Given the description of an element on the screen output the (x, y) to click on. 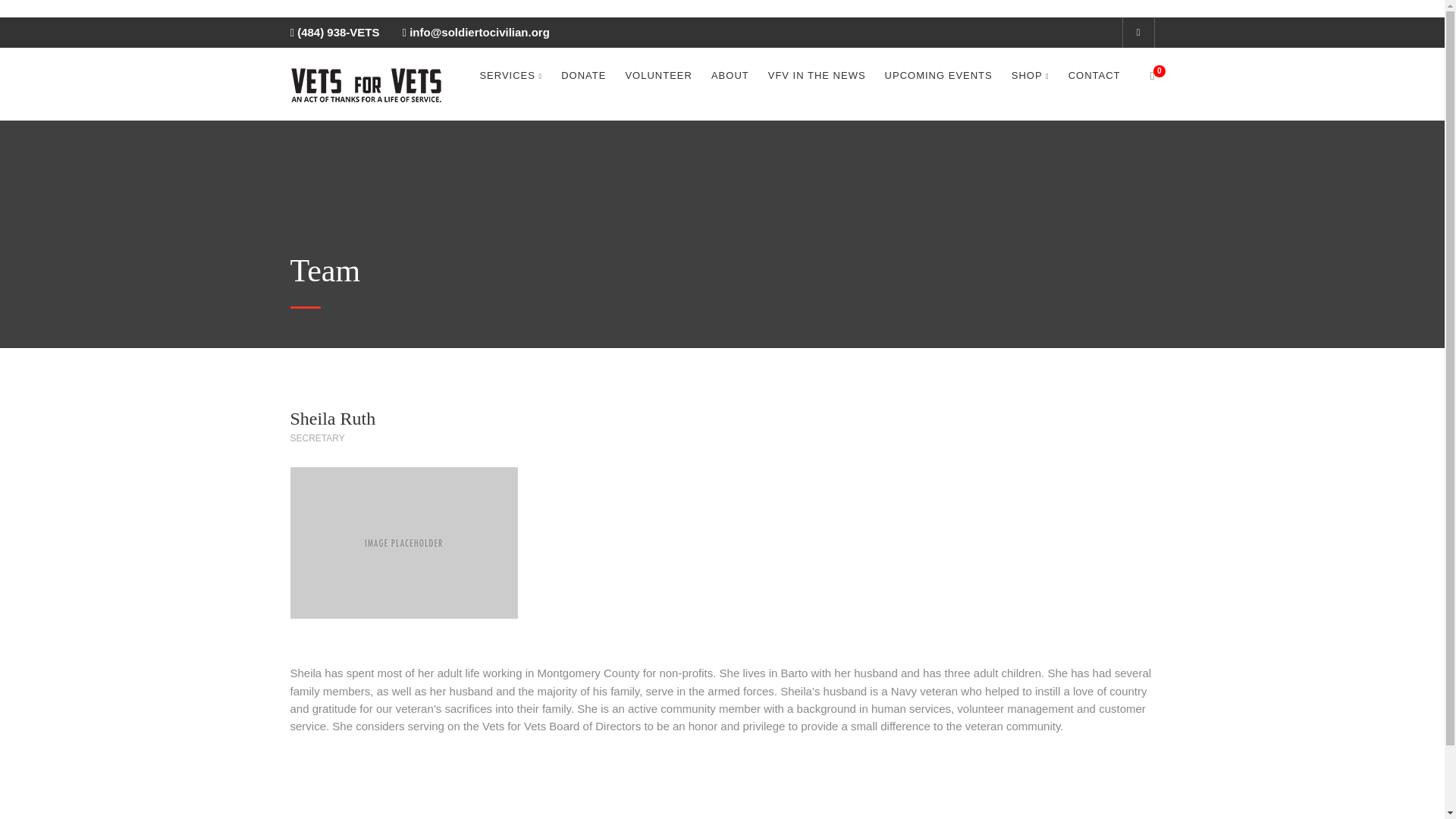
VFV IN THE NEWS (817, 75)
CONTACT (1094, 75)
SHOP (1030, 75)
VOLUNTEER (657, 75)
SERVICES (510, 75)
0 (1142, 75)
DONATE (582, 75)
ABOUT (730, 75)
UPCOMING EVENTS (938, 75)
